Given the description of an element on the screen output the (x, y) to click on. 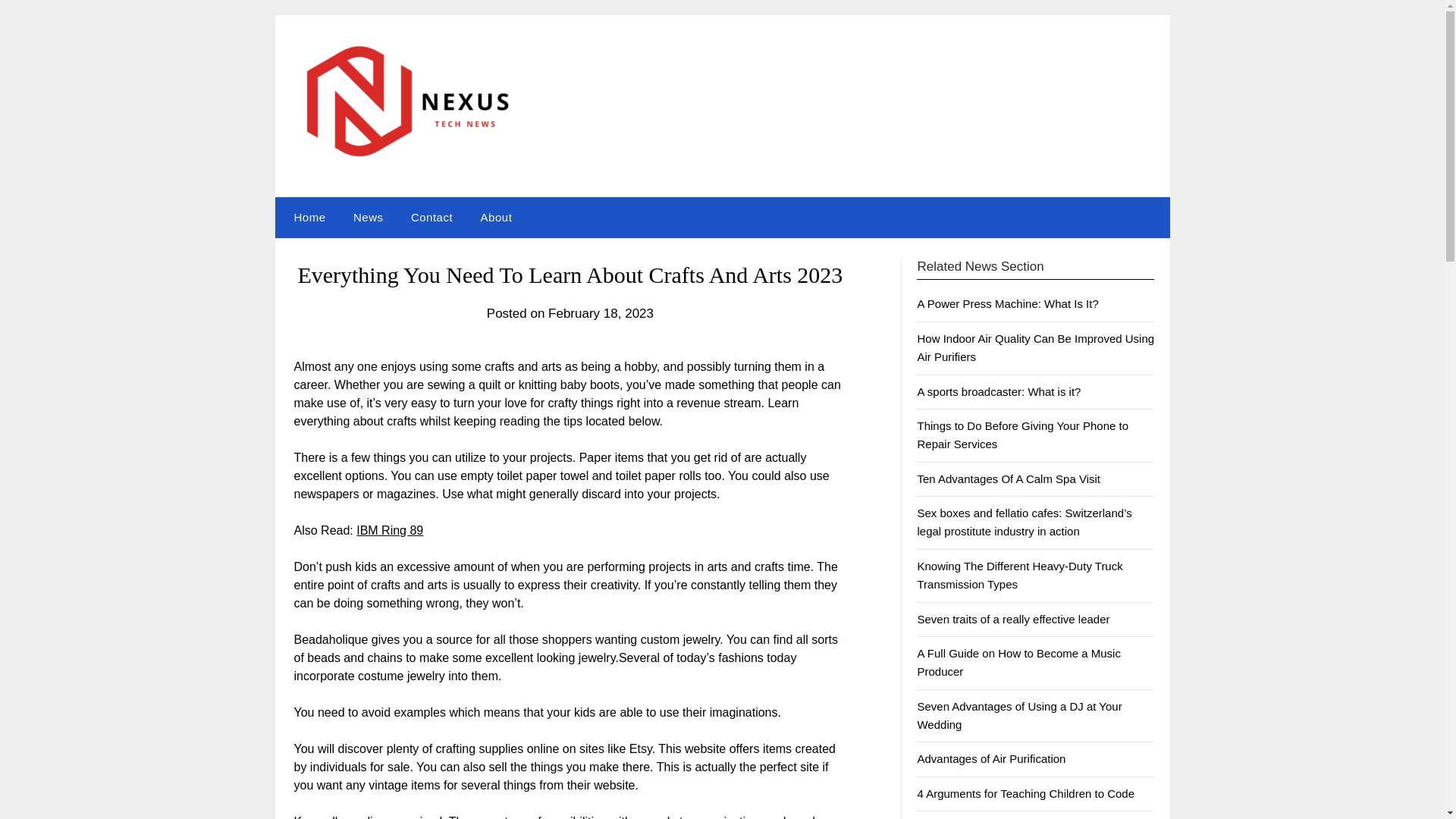
How Indoor Air Quality Can Be Improved Using Air Purifiers (1035, 347)
Advantages of Air Purification (991, 758)
Seven traits of a really effective leader (1013, 618)
IBM Ring 89 (389, 530)
A Full Guide on How to Become a Music Producer (1018, 662)
About (496, 217)
News (368, 217)
A Power Press Machine: What Is It? (1007, 303)
Knowing The Different Heavy-Duty Truck Transmission Types (1019, 574)
Home (306, 217)
